Given the description of an element on the screen output the (x, y) to click on. 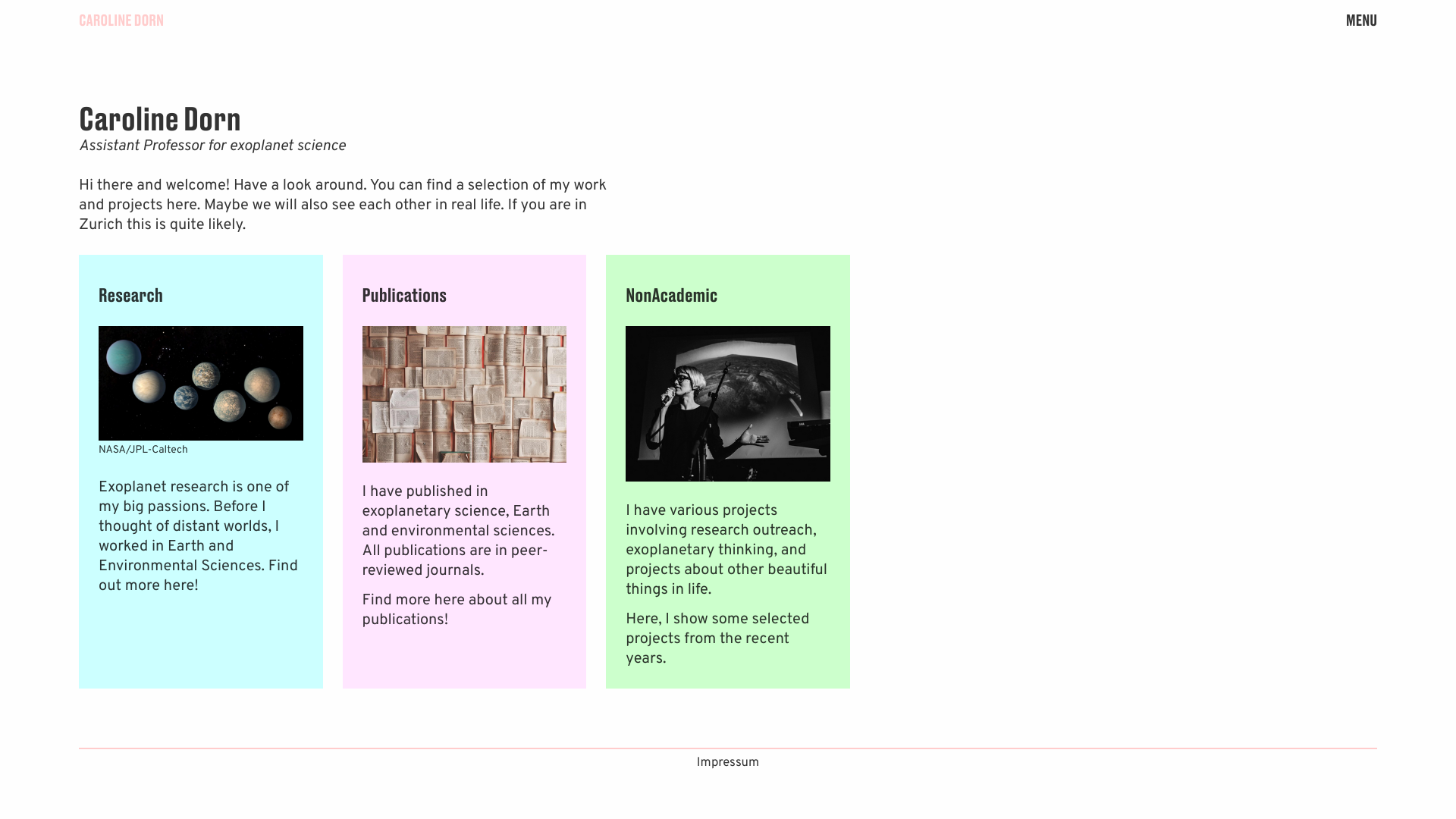
Research Element type: text (130, 294)
NonAcademic Element type: text (671, 294)
CAROLINE DORN Element type: text (120, 19)
Publications Element type: text (404, 294)
Impressum Element type: text (727, 763)
